Given the description of an element on the screen output the (x, y) to click on. 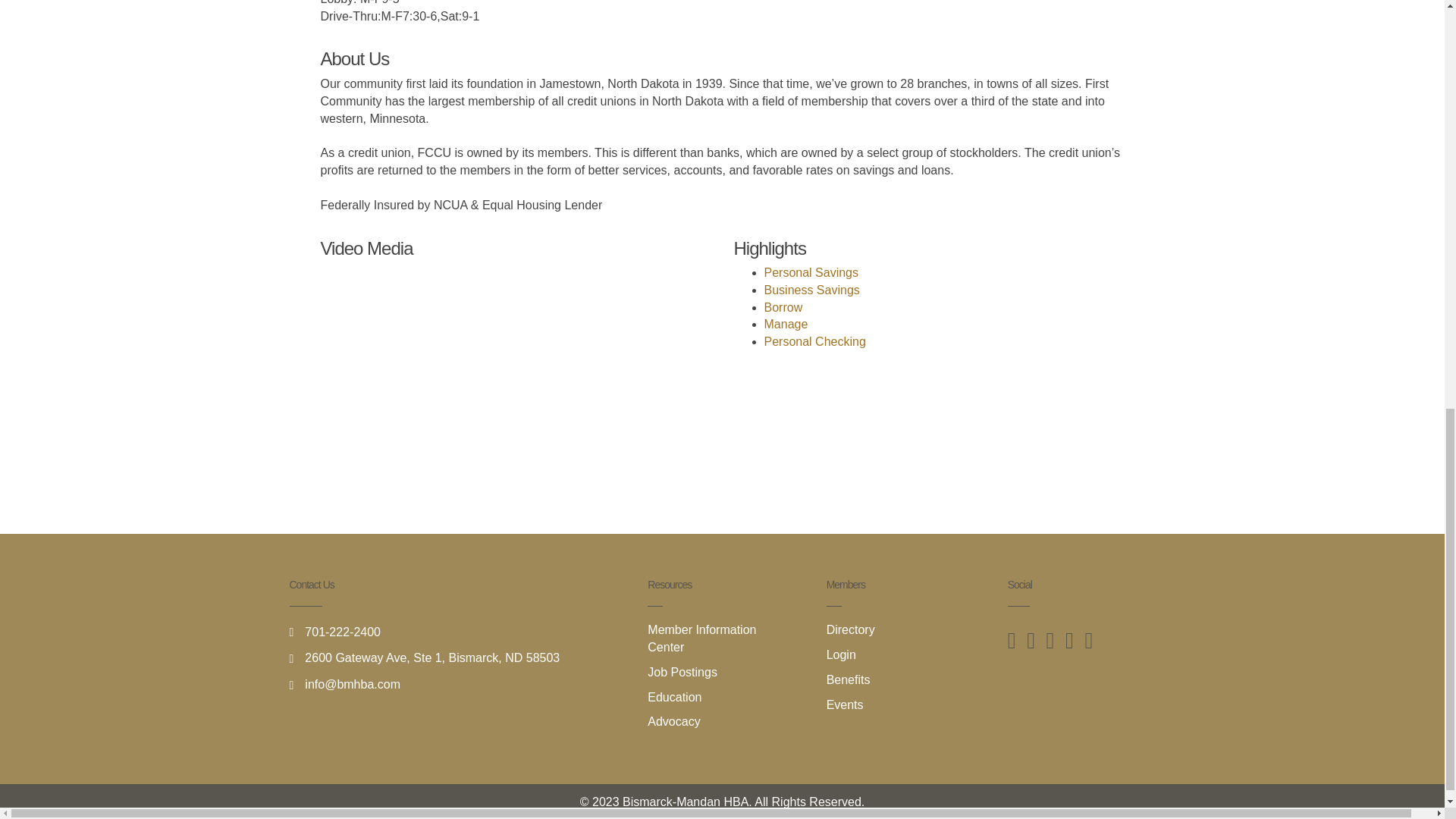
Borrow (783, 307)
Personal Checking (815, 341)
Personal Savings (811, 272)
Business Savings (812, 289)
Manage (786, 323)
